Given the description of an element on the screen output the (x, y) to click on. 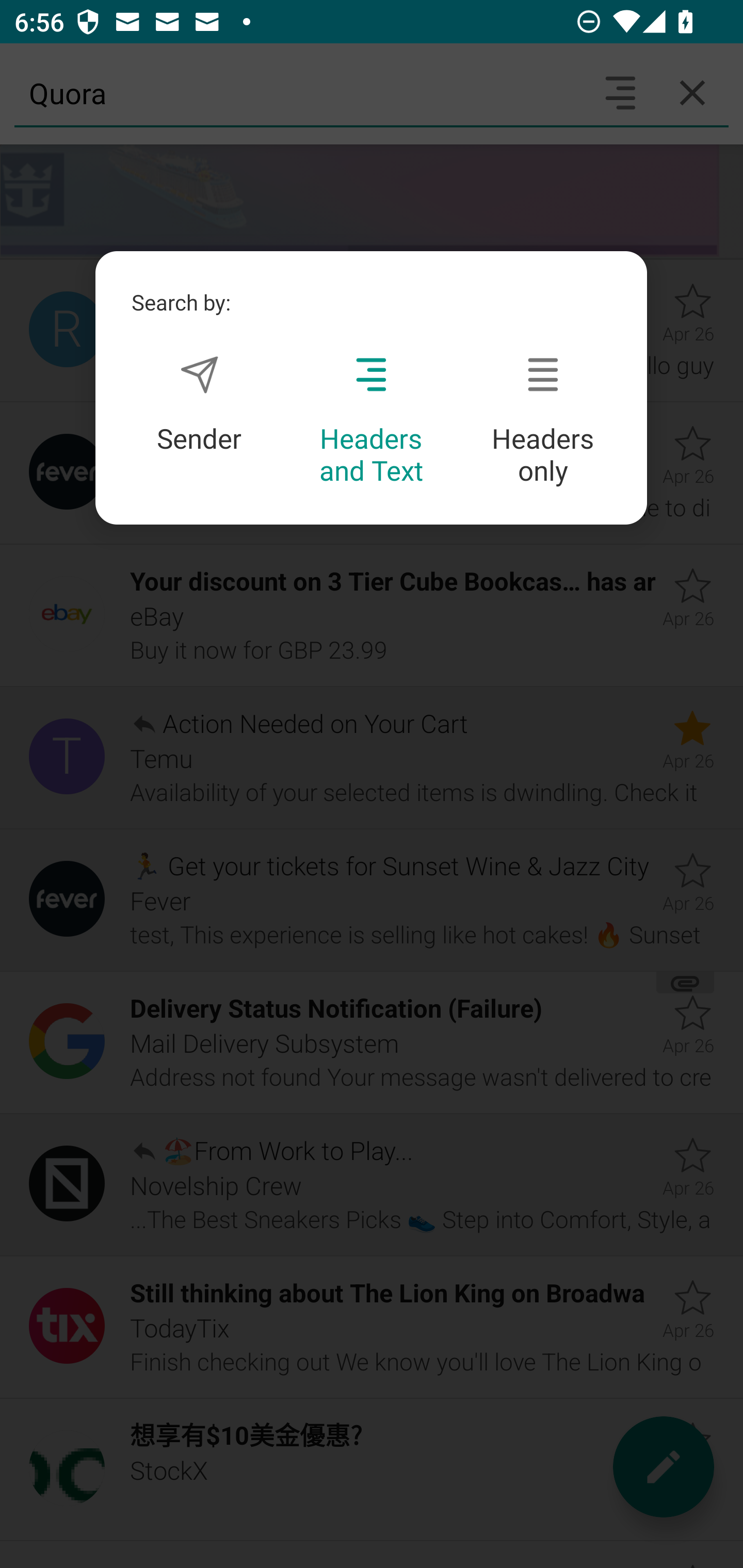
Sender (199, 404)
Headers and Text (371, 420)
Headers only (542, 420)
